Given the description of an element on the screen output the (x, y) to click on. 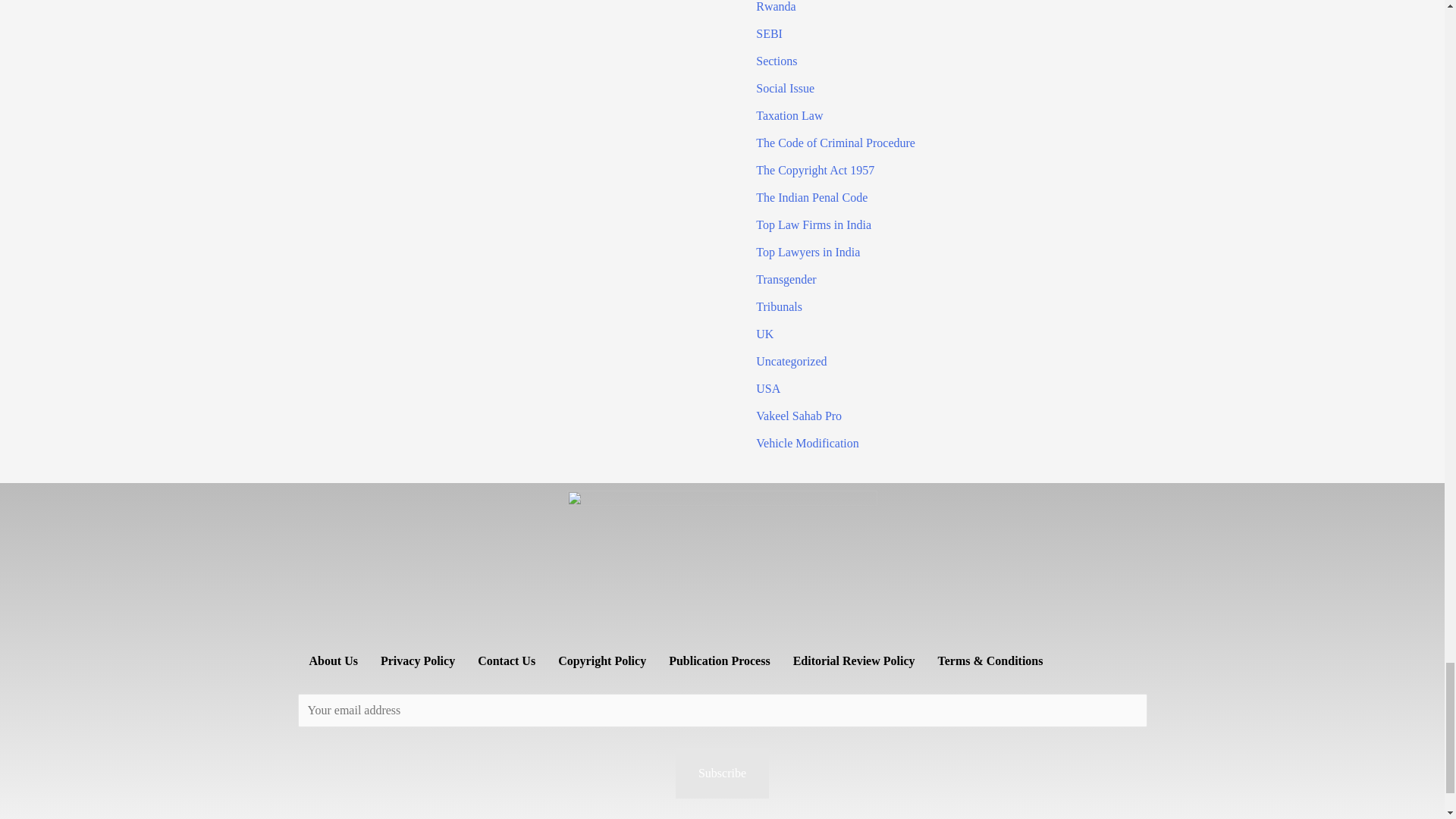
Subscribe (721, 773)
